Given the description of an element on the screen output the (x, y) to click on. 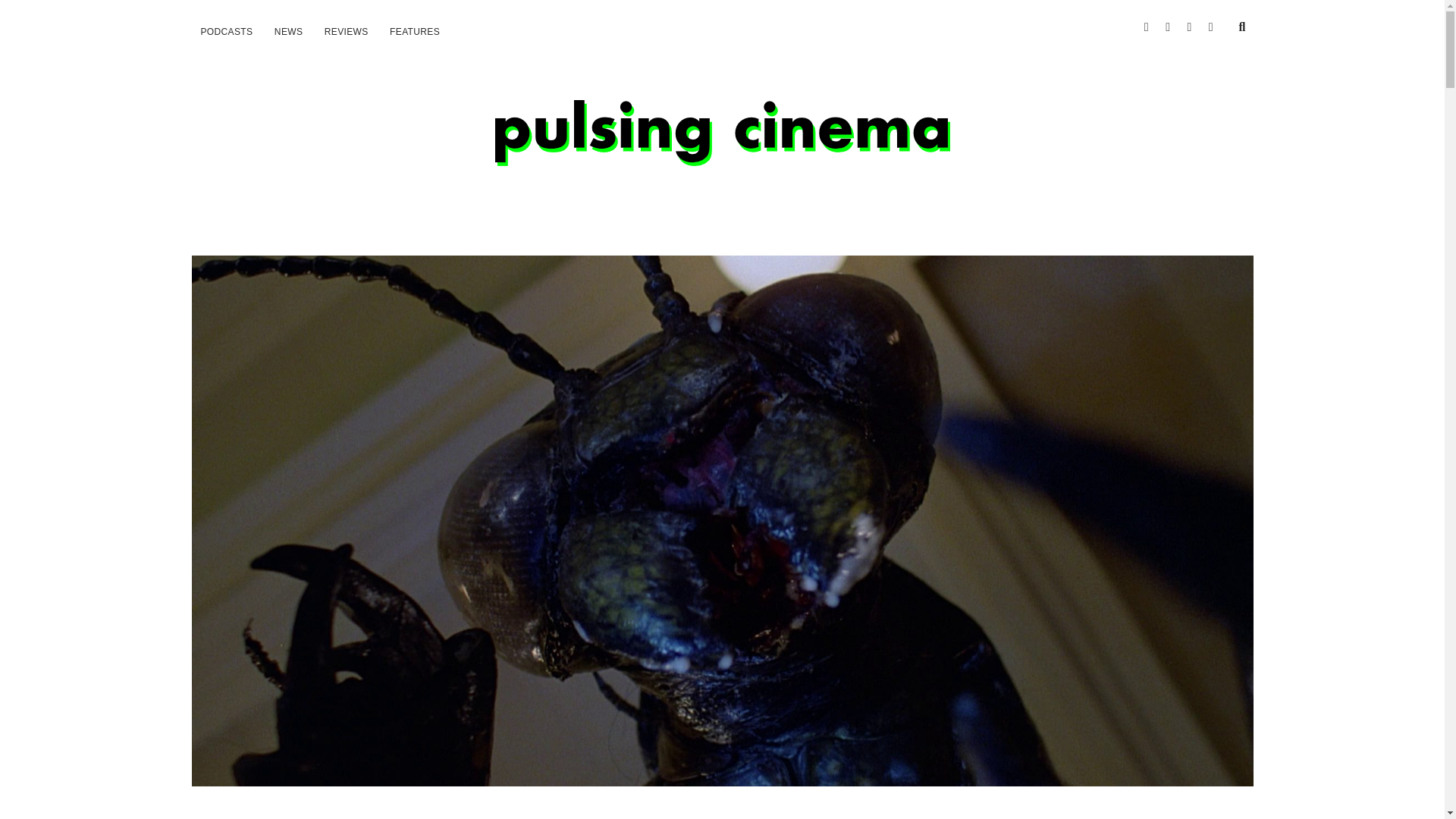
FEATURES (414, 31)
REVIEWS (346, 31)
NEWS (287, 31)
Pulsing Cinema (722, 148)
PODCASTS (226, 31)
